Given the description of an element on the screen output the (x, y) to click on. 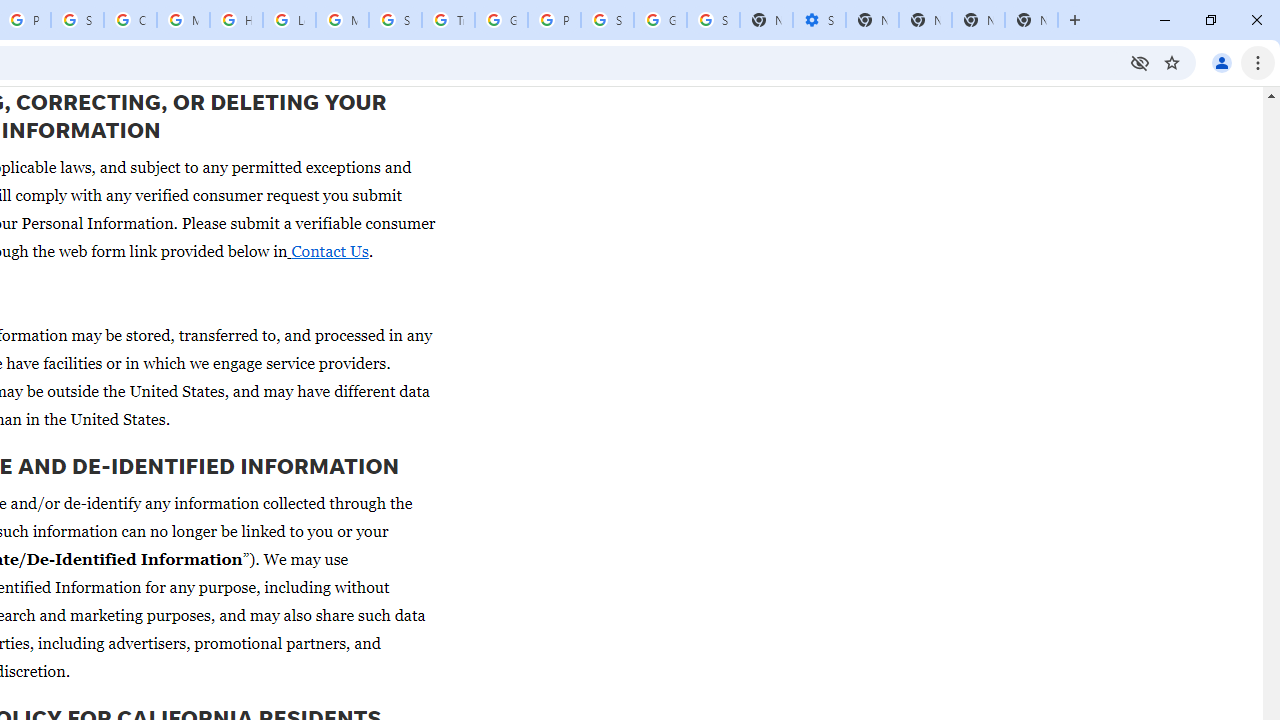
Settings - Performance (819, 20)
Sign in - Google Accounts (607, 20)
Trusted Information and Content - Google Safety Center (448, 20)
New Tab (1031, 20)
